Given the description of an element on the screen output the (x, y) to click on. 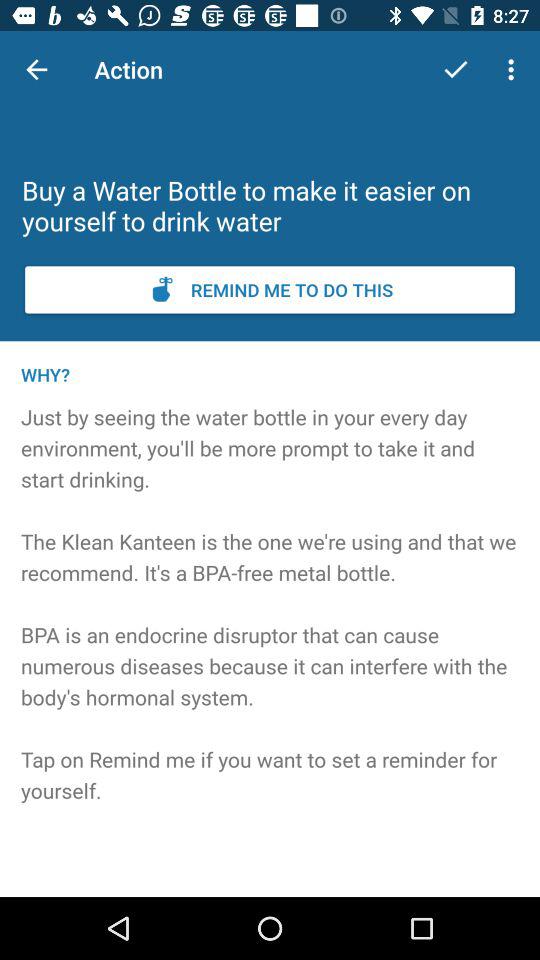
press the item above buy a water icon (455, 69)
